Given the description of an element on the screen output the (x, y) to click on. 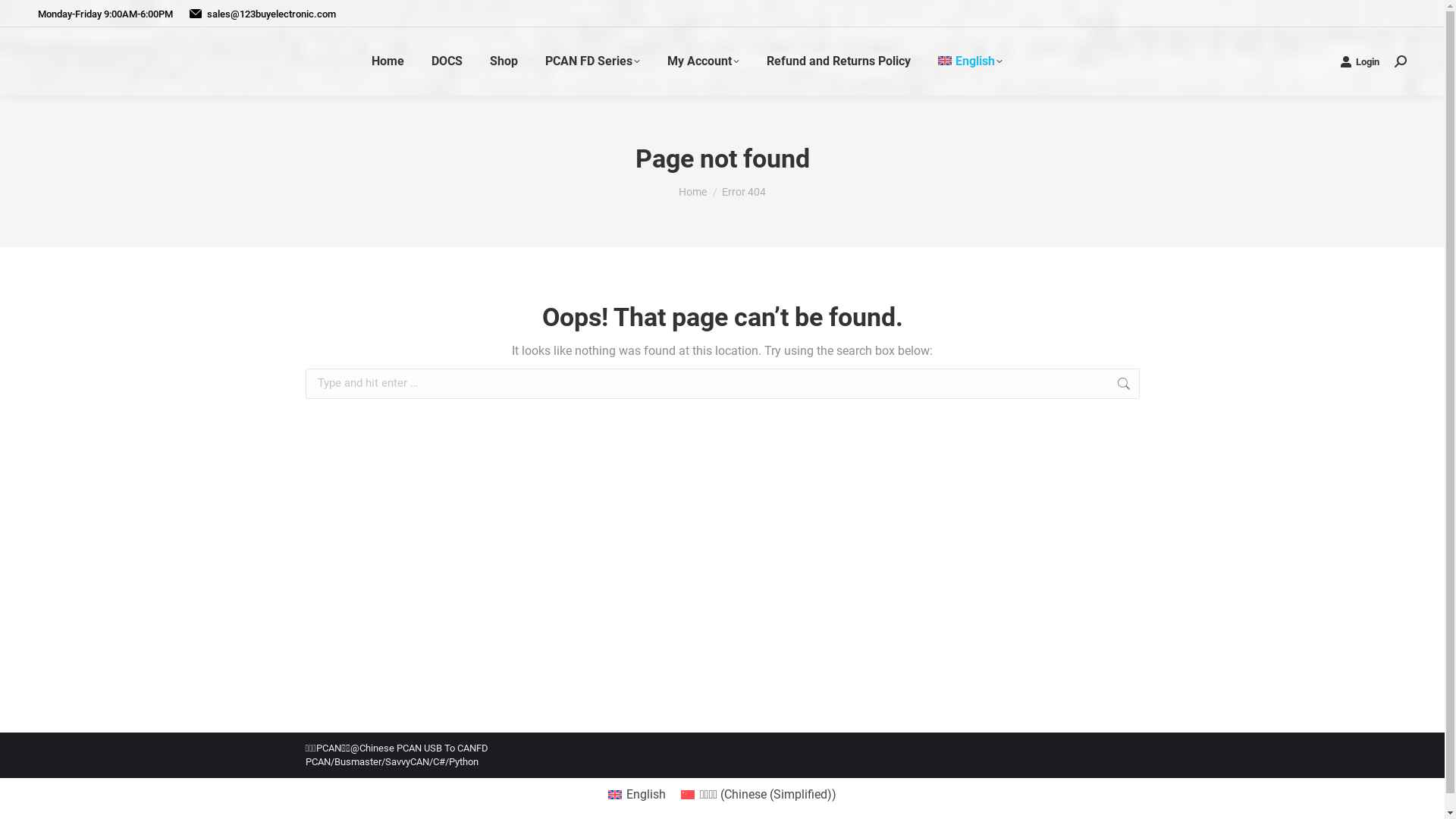
English Element type: text (636, 794)
DOCS Element type: text (446, 60)
Shop Element type: text (503, 60)
Go! Element type: text (23, 15)
English Element type: text (970, 60)
Refund and Returns Policy Element type: text (838, 60)
My Account Element type: text (703, 60)
Home Element type: text (387, 60)
sales@123buyelectronic.com Element type: text (261, 13)
Home Element type: text (692, 191)
Login Element type: text (1359, 60)
Go! Element type: text (1162, 384)
PCAN FD Series Element type: text (592, 60)
